Given the description of an element on the screen output the (x, y) to click on. 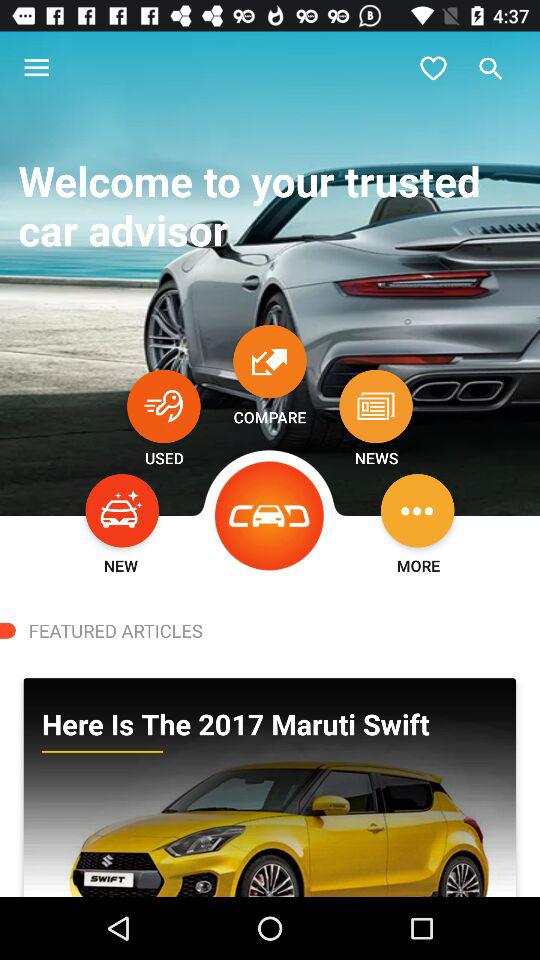
search button (491, 68)
